Given the description of an element on the screen output the (x, y) to click on. 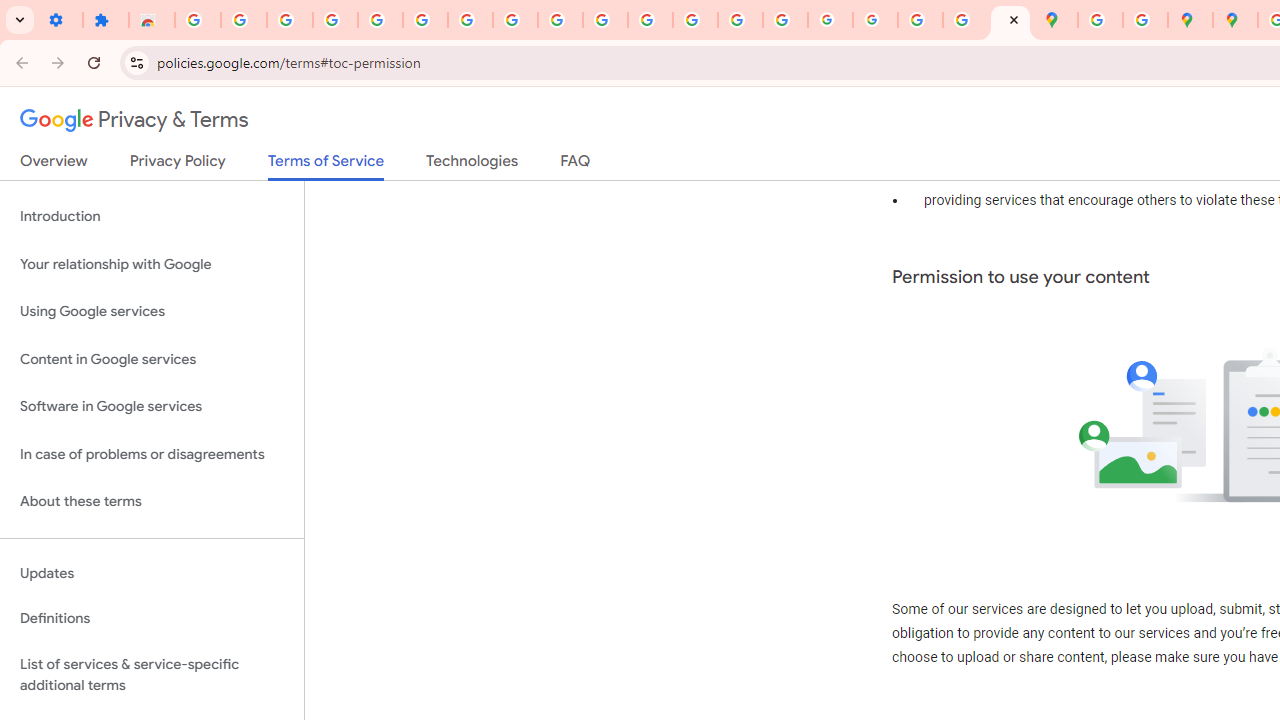
Settings - On startup (60, 20)
Software in Google services (152, 407)
Google Maps (1055, 20)
About these terms (152, 502)
Reviews: Helix Fruit Jump Arcade Game (152, 20)
